Given the description of an element on the screen output the (x, y) to click on. 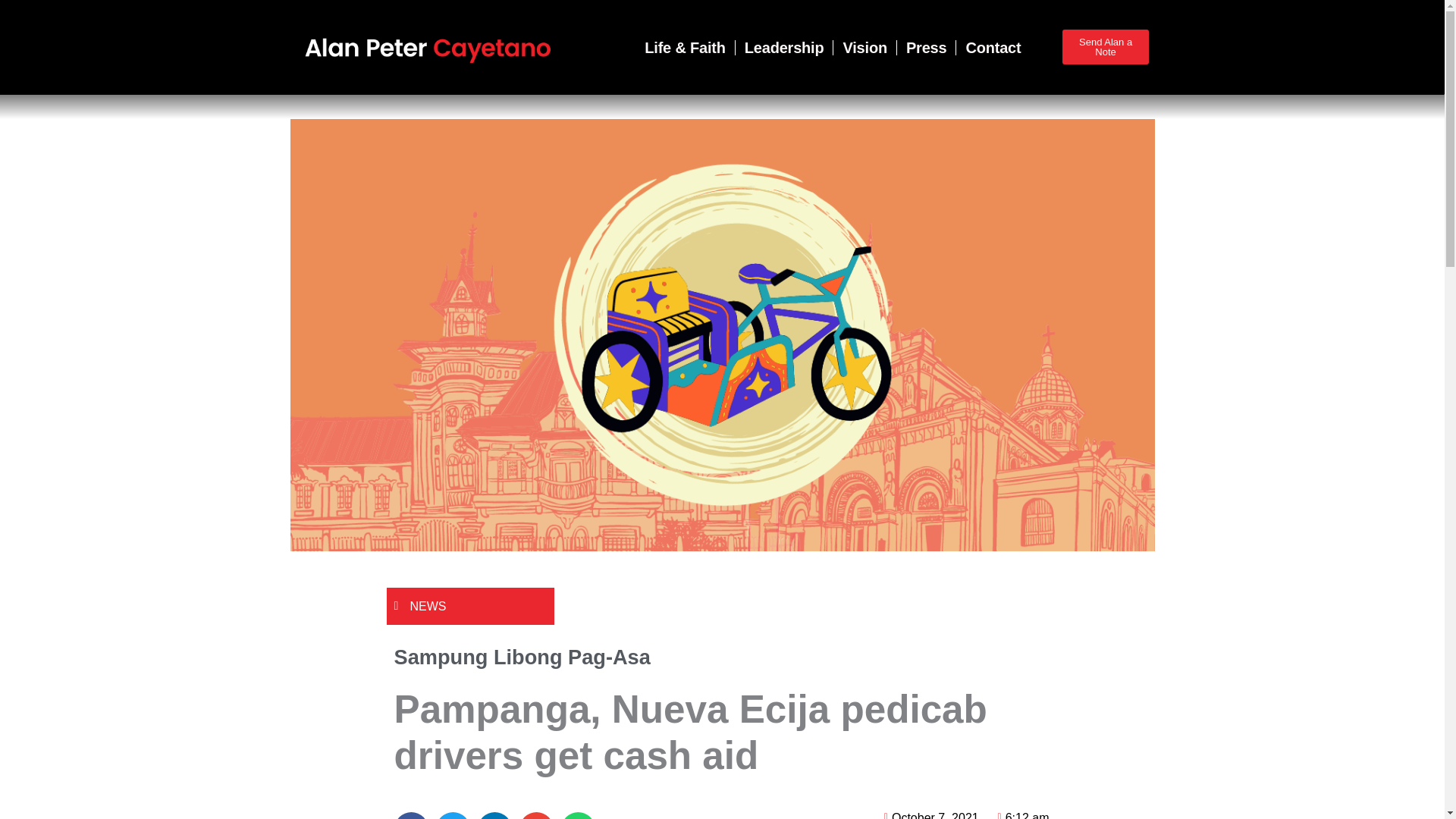
October 7, 2021 (927, 812)
Leadership (784, 46)
Vision (864, 46)
Press (926, 46)
NEWS (427, 605)
Contact (988, 46)
Send Alan a Note (1105, 46)
